Given the description of an element on the screen output the (x, y) to click on. 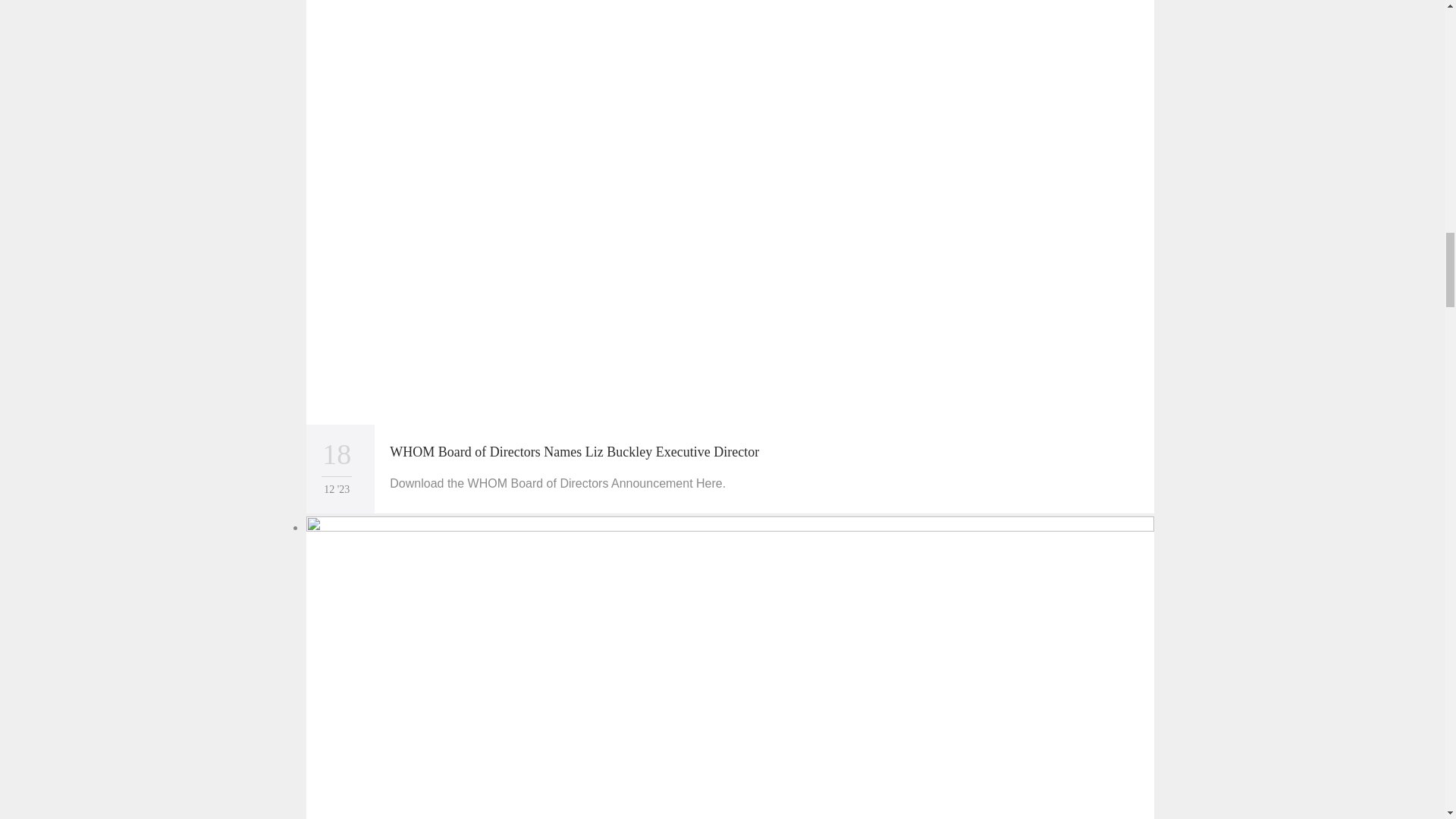
WHOM Board of Directors Names Liz Buckley Executive Director (574, 451)
